Given the description of an element on the screen output the (x, y) to click on. 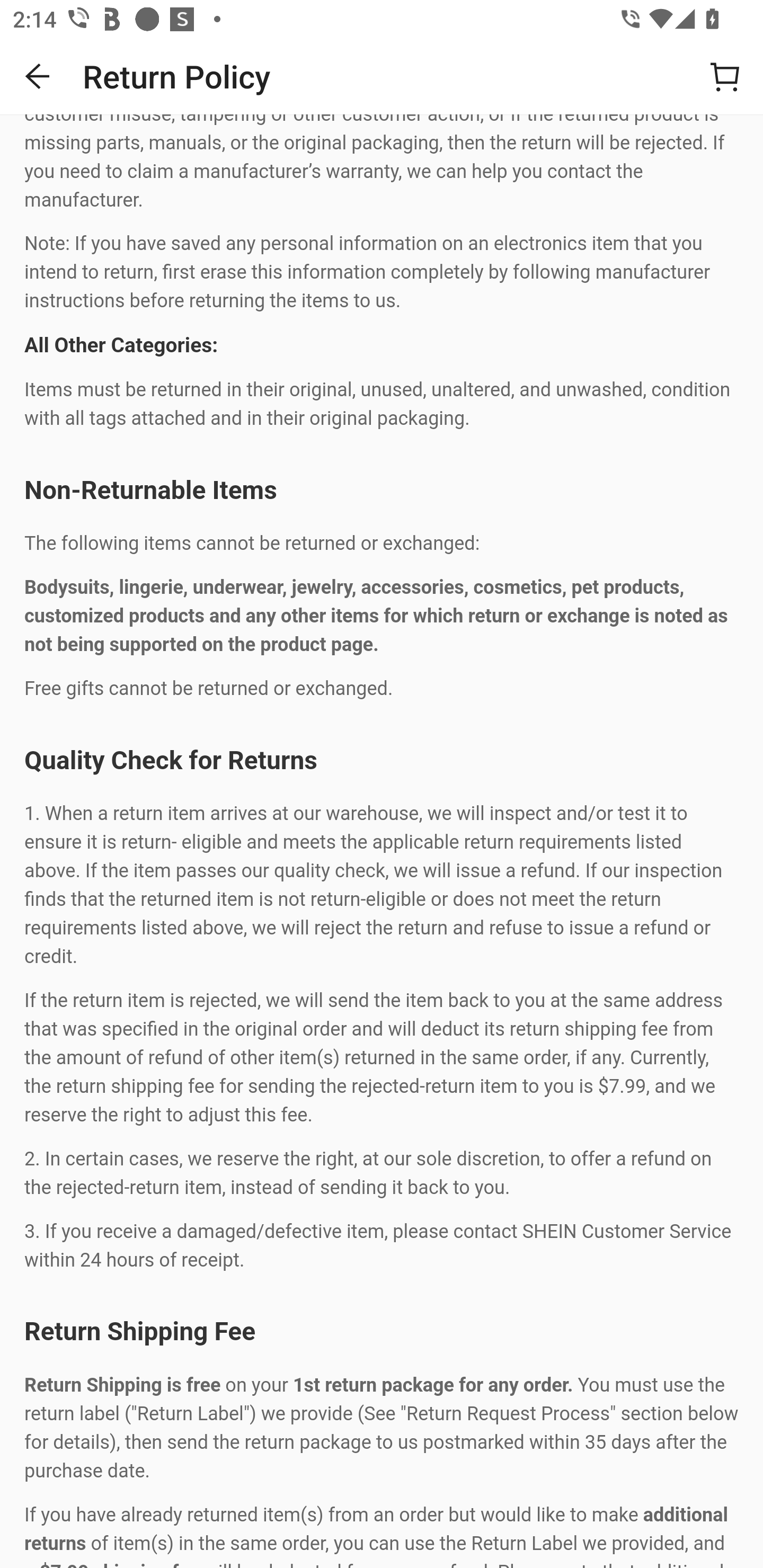
BACK (38, 75)
Cart (724, 75)
